Given the description of an element on the screen output the (x, y) to click on. 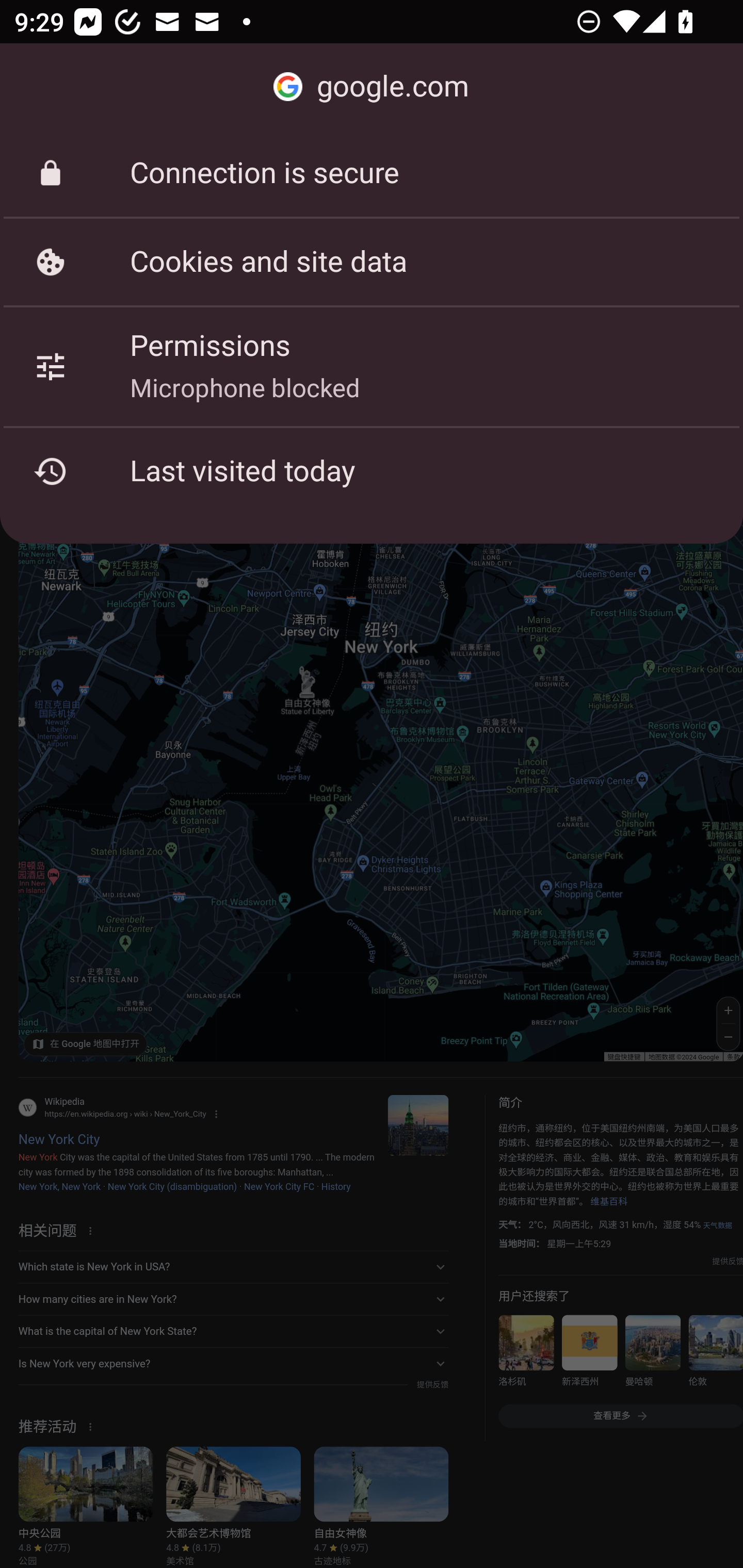
google.com (371, 86)
Connection is secure (371, 173)
Cookies and site data (371, 261)
Permissions Microphone blocked (371, 366)
Last visited today (371, 471)
